Given the description of an element on the screen output the (x, y) to click on. 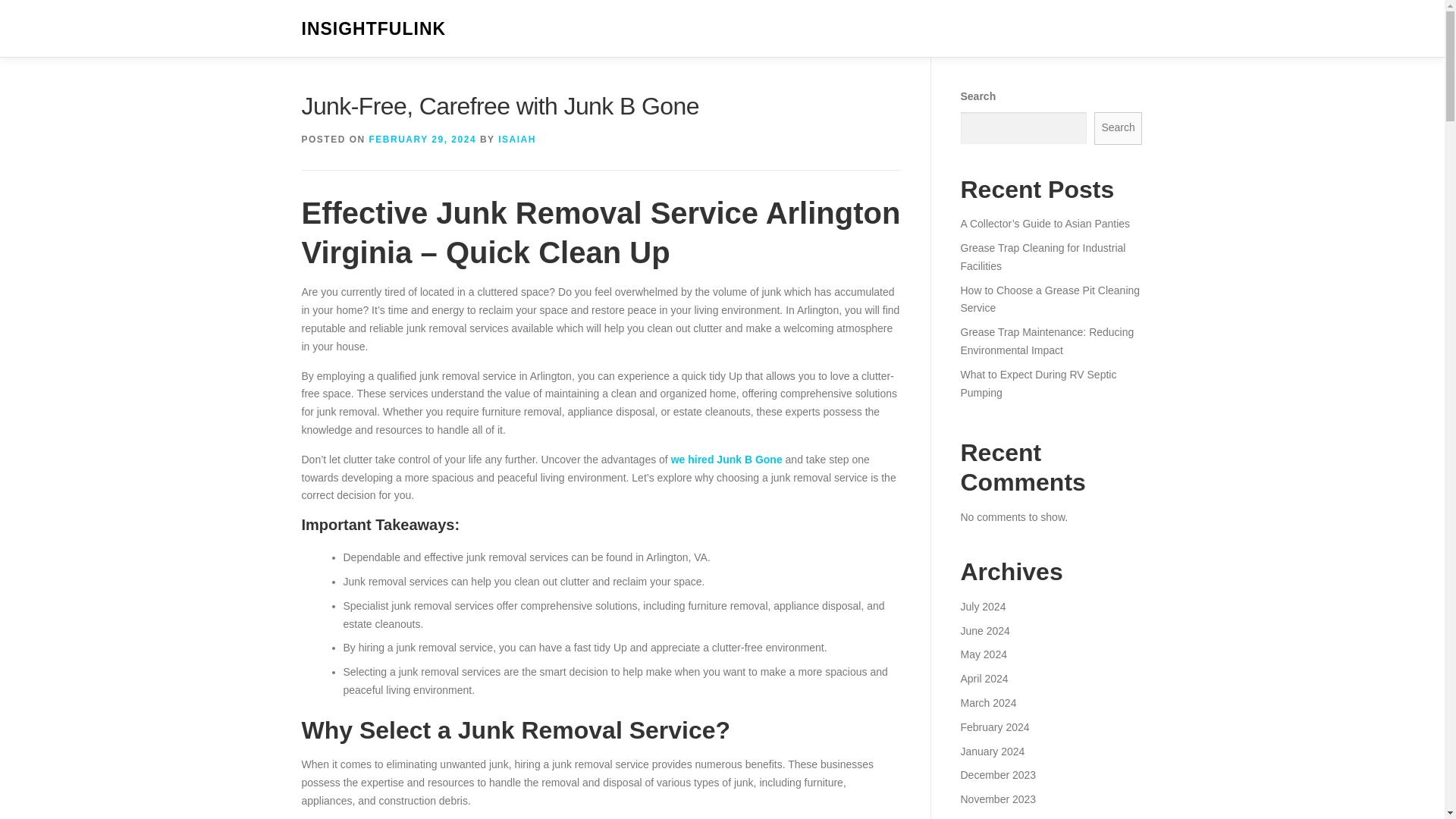
January 2024 (992, 750)
April 2024 (983, 678)
November 2023 (997, 799)
Search (1118, 128)
October 2023 (992, 818)
Grease Trap Cleaning for Industrial Facilities (1042, 256)
December 2023 (997, 775)
we hired Junk B Gone (727, 459)
How to Choose a Grease Pit Cleaning Service (1049, 299)
FEBRUARY 29, 2024 (423, 139)
INSIGHTFULINK (373, 29)
What to Expect During RV Septic Pumping (1037, 383)
July 2024 (982, 606)
ISAIAH (516, 139)
June 2024 (984, 630)
